Given the description of an element on the screen output the (x, y) to click on. 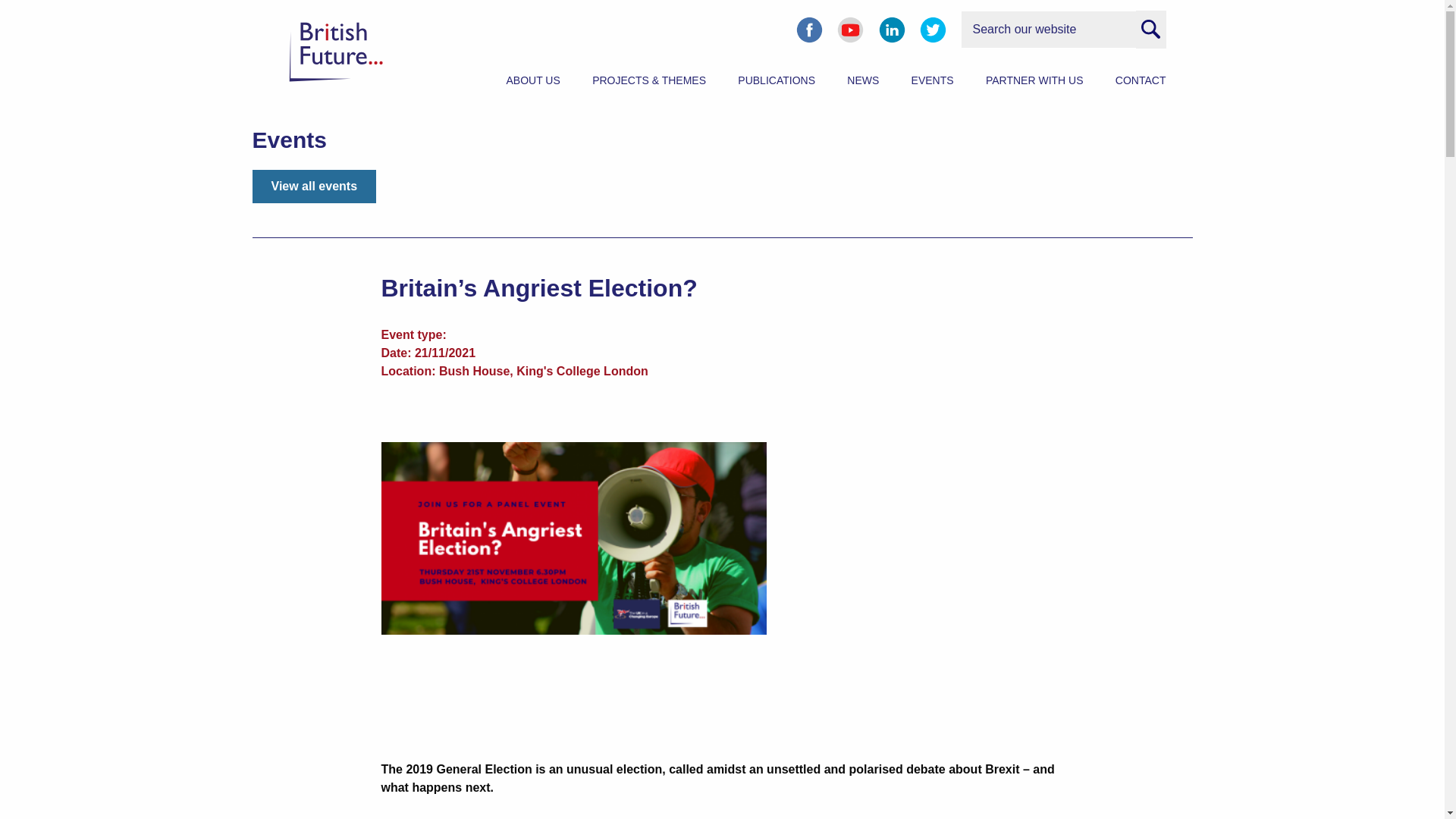
PUBLICATIONS (776, 80)
NEWS (863, 80)
EVENTS (932, 80)
PARTNER WITH US (1034, 80)
CONTACT (1140, 80)
ABOUT US (533, 80)
View all events (313, 186)
